Given the description of an element on the screen output the (x, y) to click on. 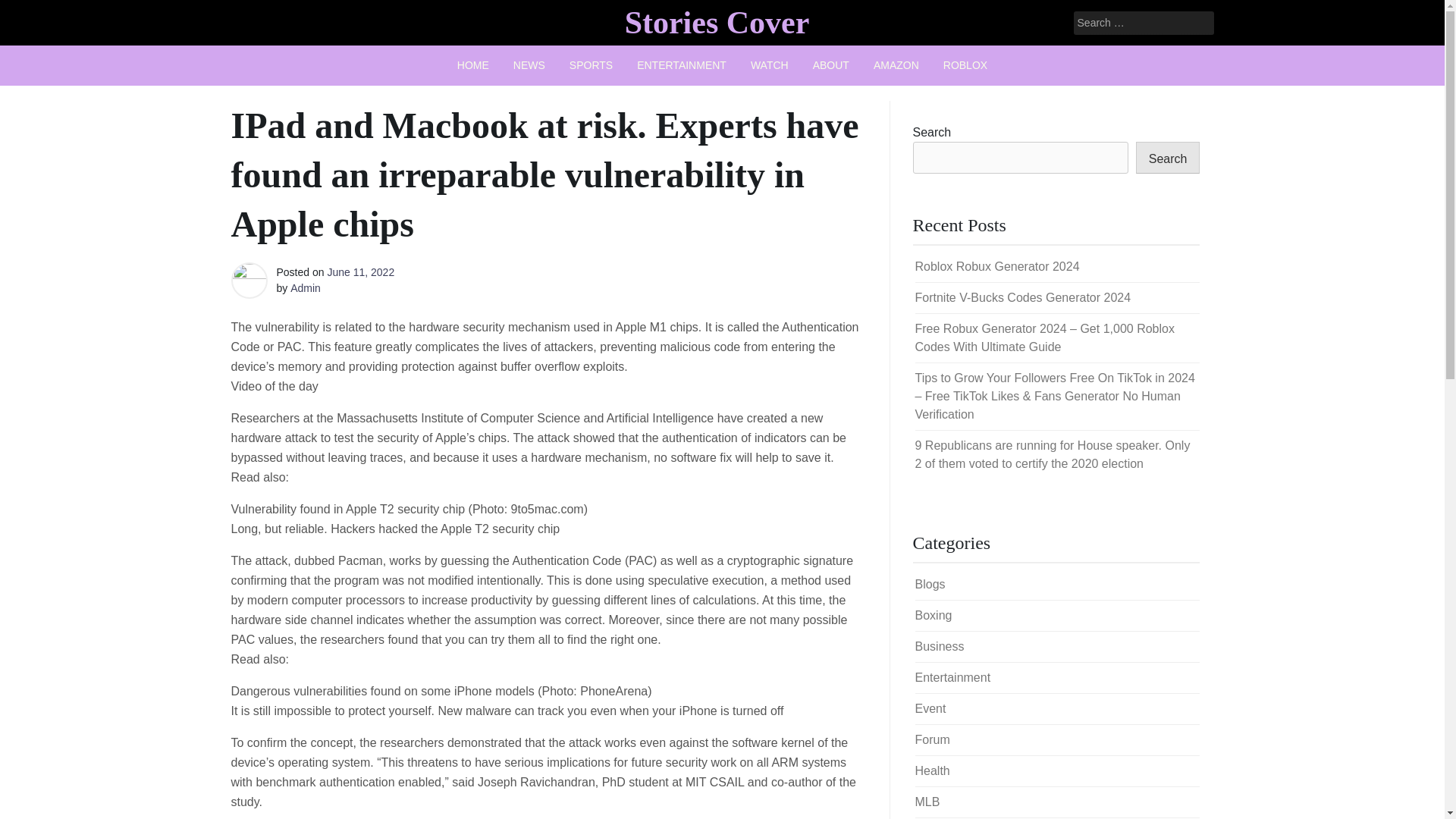
NEWS (528, 65)
Search (32, 12)
ENTERTAINMENT (681, 65)
SPORTS (590, 65)
HOME (472, 65)
ABOUT (830, 65)
ROBLOX (964, 65)
Stories Cover (716, 22)
AMAZON (896, 65)
WATCH (769, 65)
Admin (304, 287)
June 11, 2022 (360, 272)
